Given the description of an element on the screen output the (x, y) to click on. 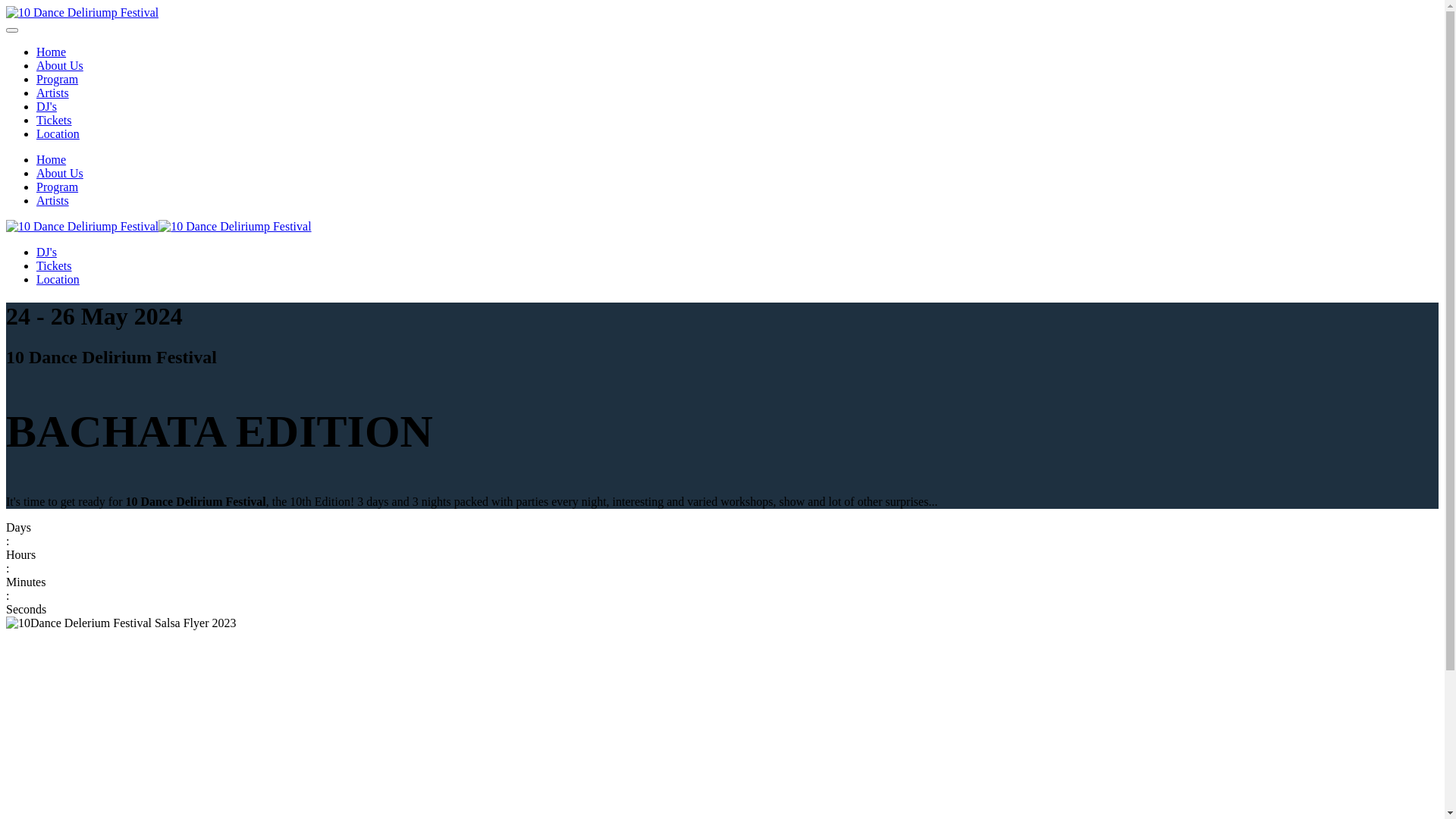
DJ's Element type: text (46, 251)
Tickets Element type: text (54, 119)
Artists Element type: text (52, 92)
Tickets Element type: text (54, 265)
Artists Element type: text (52, 200)
Program Element type: text (57, 186)
Home Element type: text (50, 51)
About Us Element type: text (59, 65)
About Us Element type: text (59, 172)
Program Element type: text (57, 78)
Location Element type: text (57, 279)
Home Element type: text (50, 159)
Location Element type: text (57, 133)
DJ's Element type: text (46, 106)
